Given the description of an element on the screen output the (x, y) to click on. 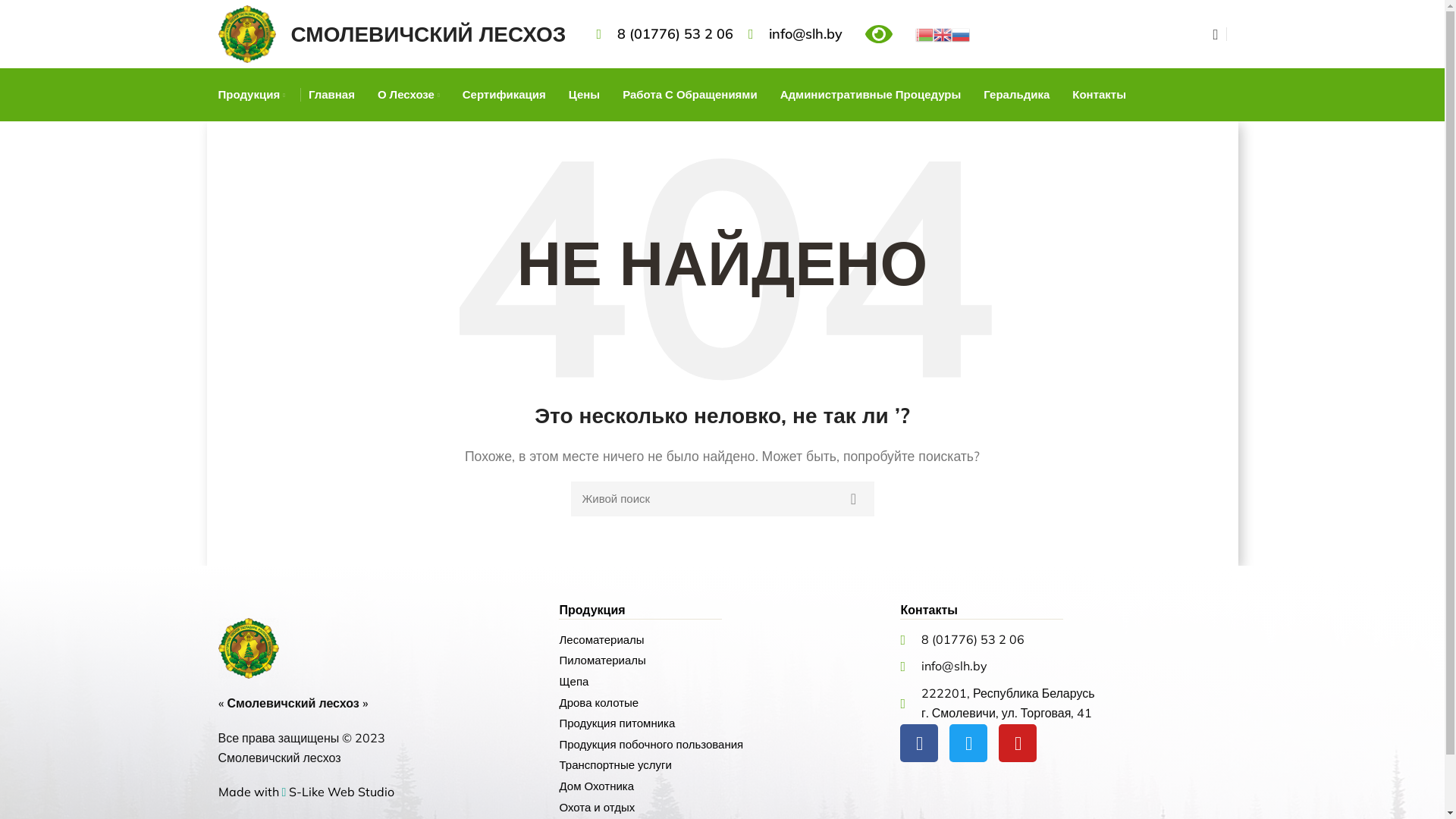
Belarusian Element type: hover (924, 32)
S-Like Web Studio Element type: text (341, 791)
info@slh.by Element type: text (795, 34)
8 (01776) 53 2 06 Element type: text (664, 34)
English Element type: hover (942, 32)
info@slh.by Element type: text (1063, 666)
gerb Element type: hover (248, 648)
Russian Element type: hover (960, 32)
8 (01776) 53 2 06 Element type: text (1063, 639)
